Given the description of an element on the screen output the (x, y) to click on. 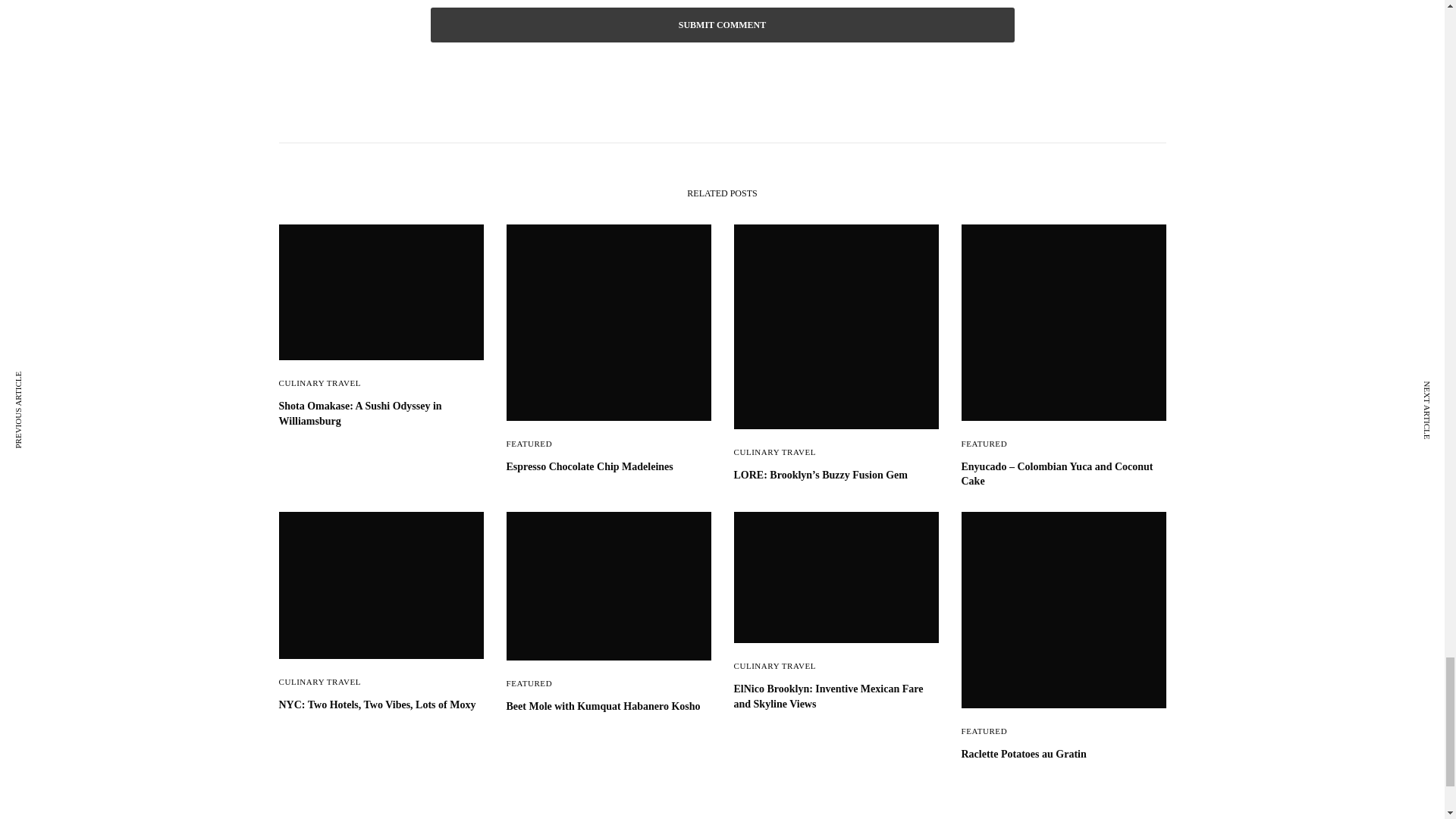
Beet Mole with Kumquat Habanero Kosho (608, 706)
ElNico Brooklyn: Inventive Mexican Fare and Skyline Views (836, 696)
Raclette Potatoes au Gratin (1063, 754)
NYC: Two Hotels, Two Vibes, Lots of Moxy (381, 704)
Espresso Chocolate Chip Madeleines (608, 467)
Submit Comment (722, 24)
Shota Omakase: A Sushi Odyssey in Williamsburg (381, 413)
